Given the description of an element on the screen output the (x, y) to click on. 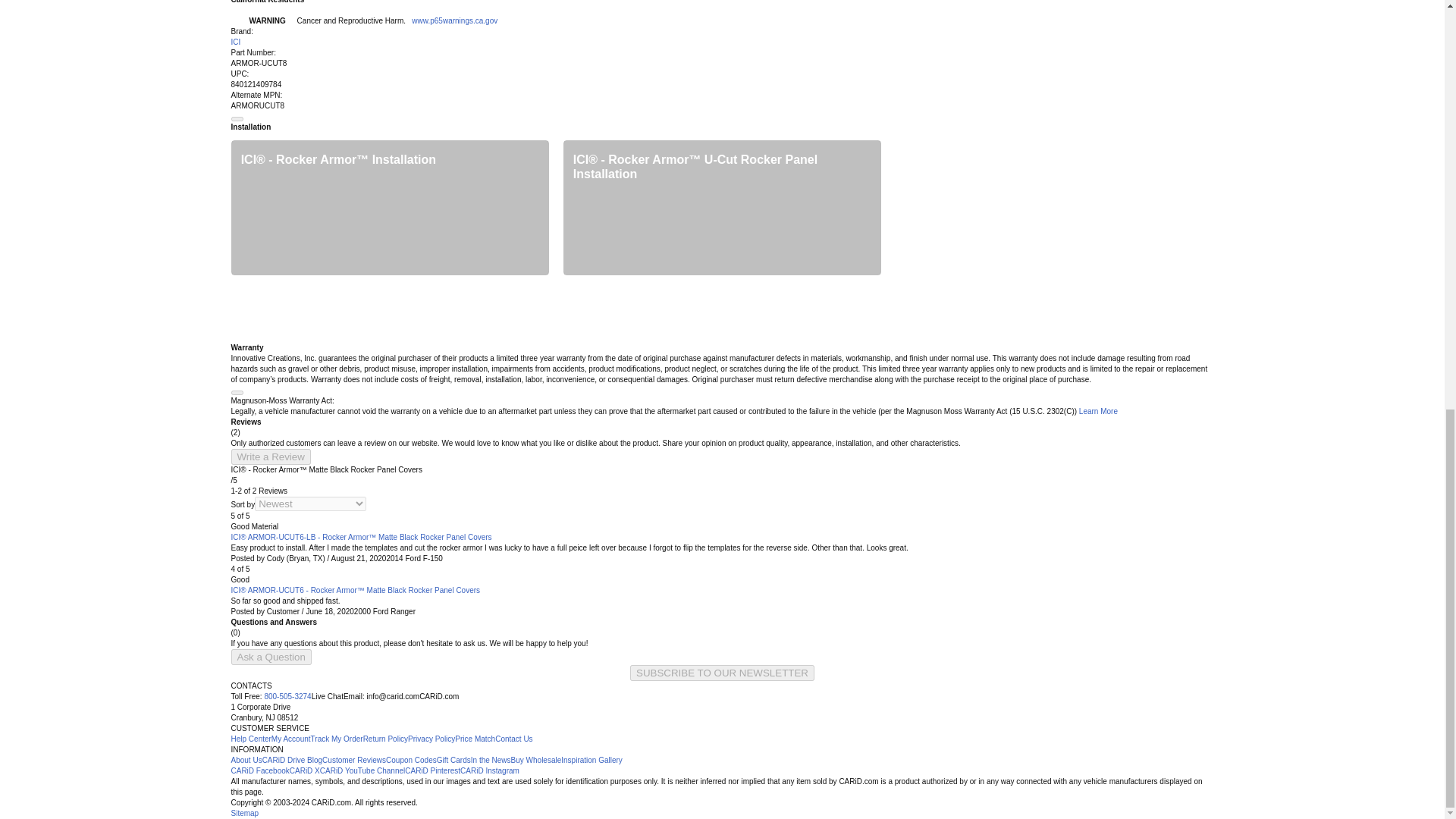
ICI (235, 41)
